Given the description of an element on the screen output the (x, y) to click on. 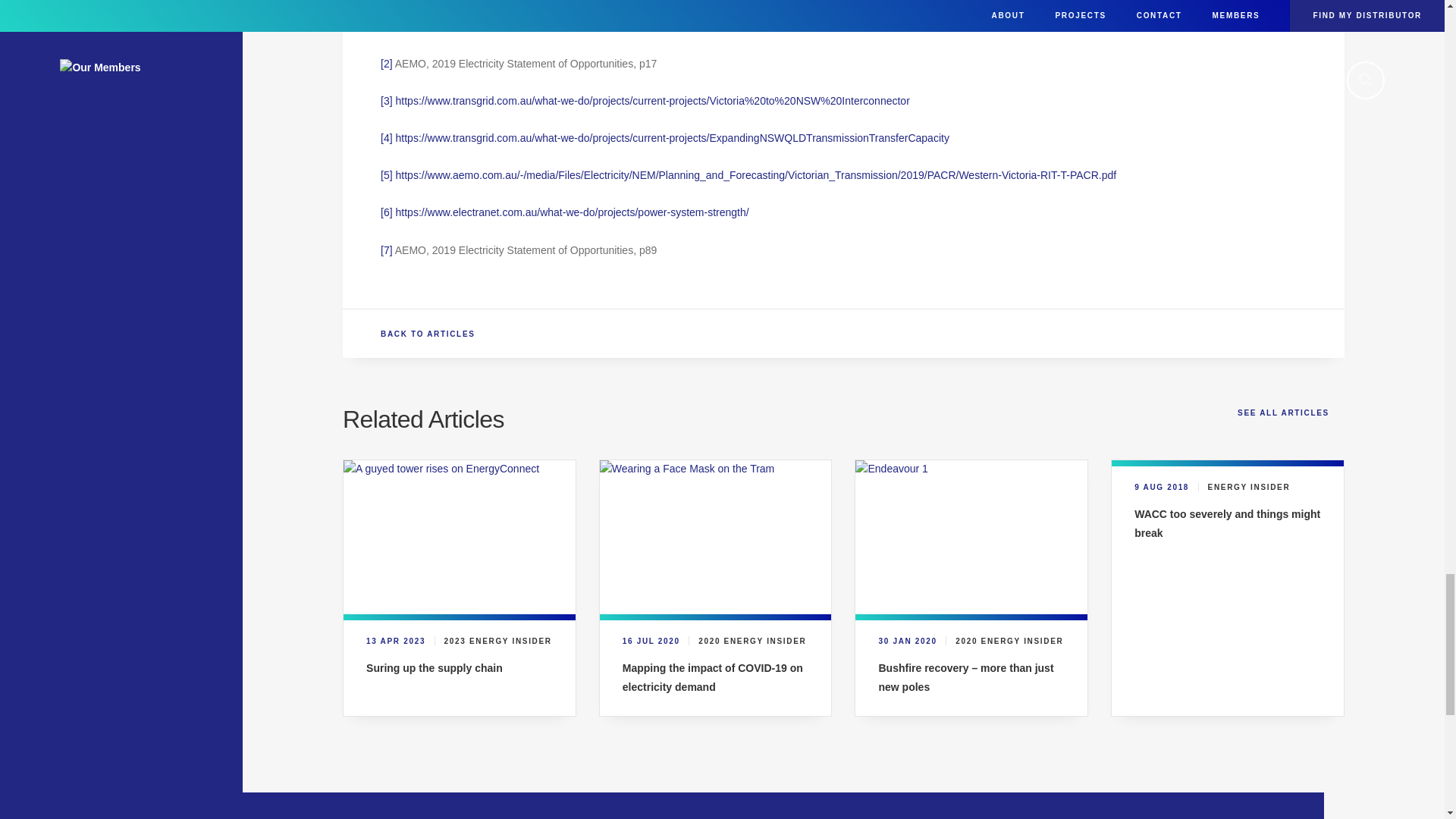
Wearing a Face Mask on the Tram (715, 537)
Endeavour 1 (971, 537)
A guyed tower rises on EnergyConnect (459, 537)
